Given the description of an element on the screen output the (x, y) to click on. 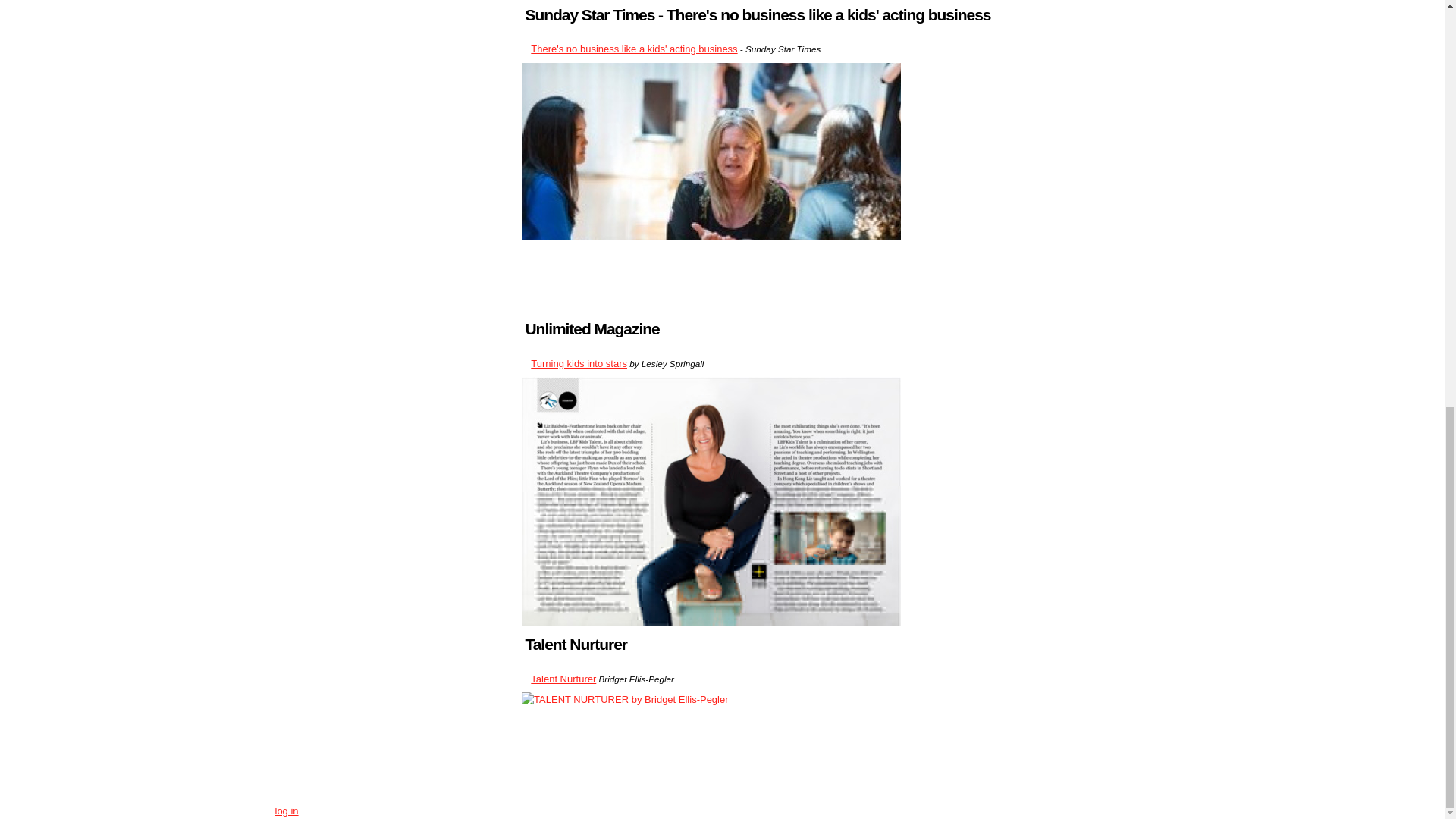
log in (286, 810)
Turning kids into stars (579, 363)
There's no business like a kids' acting business (633, 48)
Talent Nurturer (563, 678)
